Given the description of an element on the screen output the (x, y) to click on. 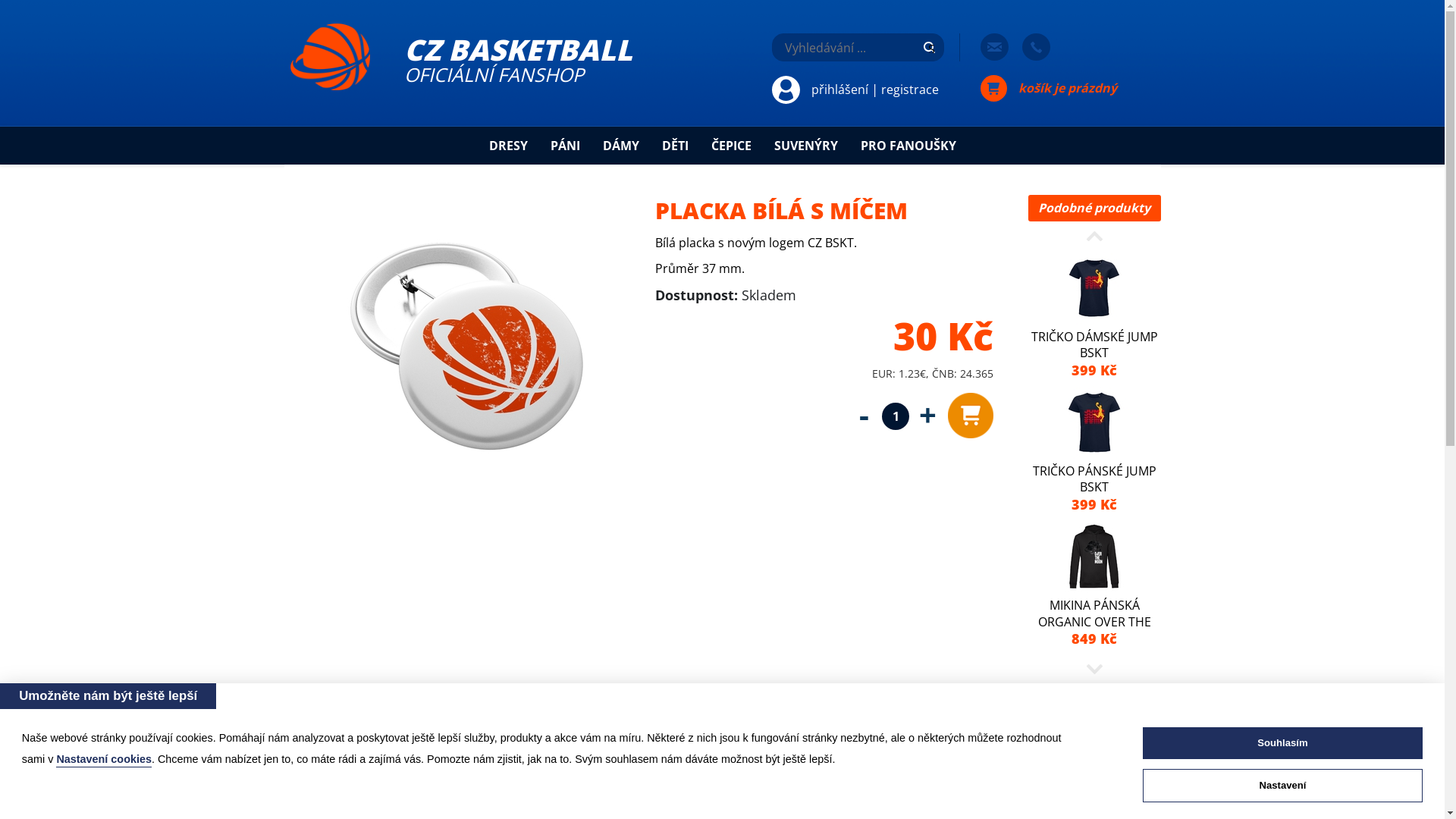
DRESY Element type: text (508, 145)
registrace Element type: text (909, 89)
